Given the description of an element on the screen output the (x, y) to click on. 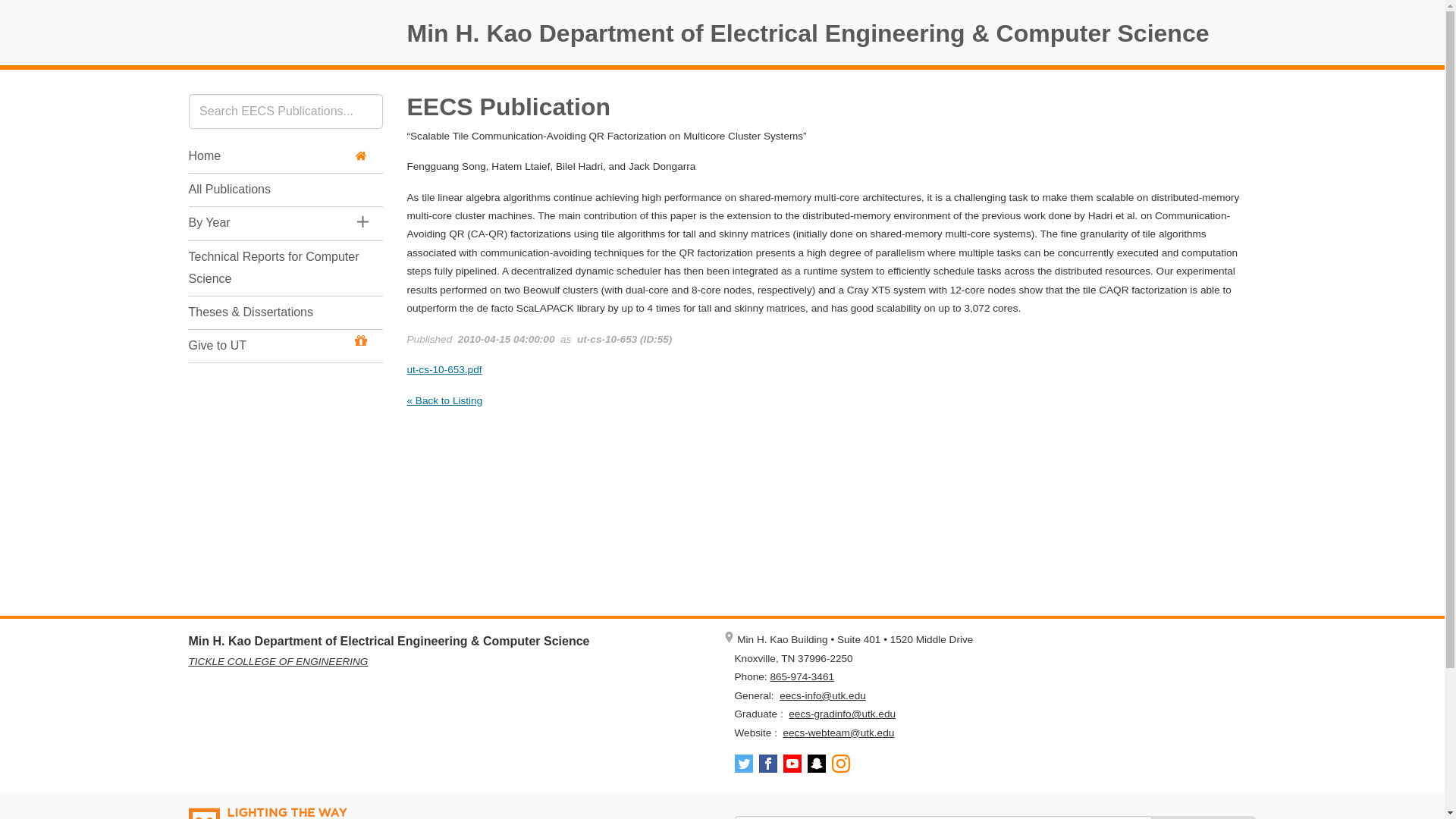
Skip to content (13, 13)
The University of Tennessee, Knoxville (285, 34)
Search (1203, 817)
All Publications (276, 189)
Home (276, 156)
Demo Site (807, 32)
Skip to content (13, 13)
Toggle Sub Menu (362, 223)
By Year (265, 223)
